Given the description of an element on the screen output the (x, y) to click on. 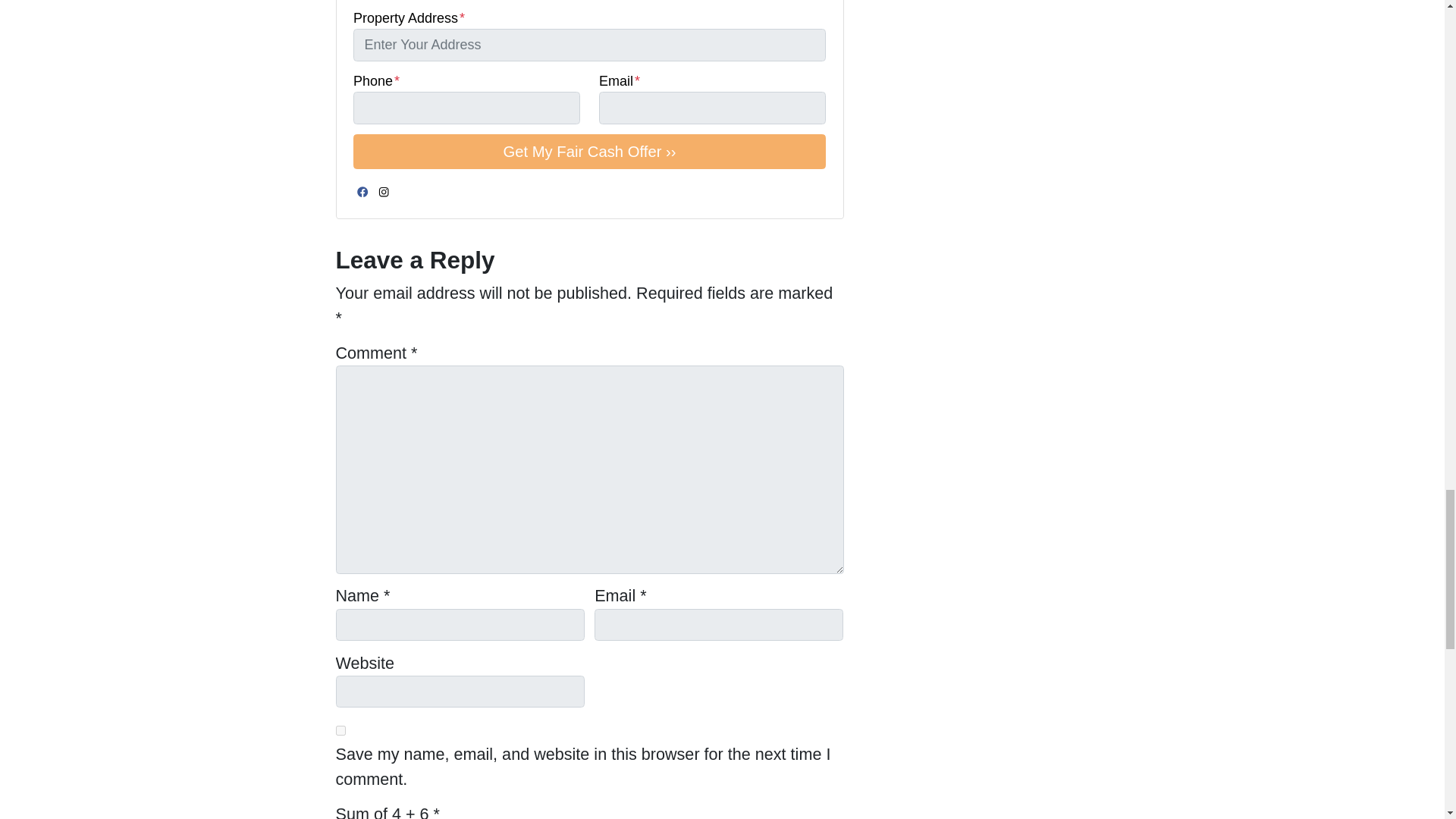
Instagram (383, 191)
Facebook (362, 191)
yes (339, 730)
